Given the description of an element on the screen output the (x, y) to click on. 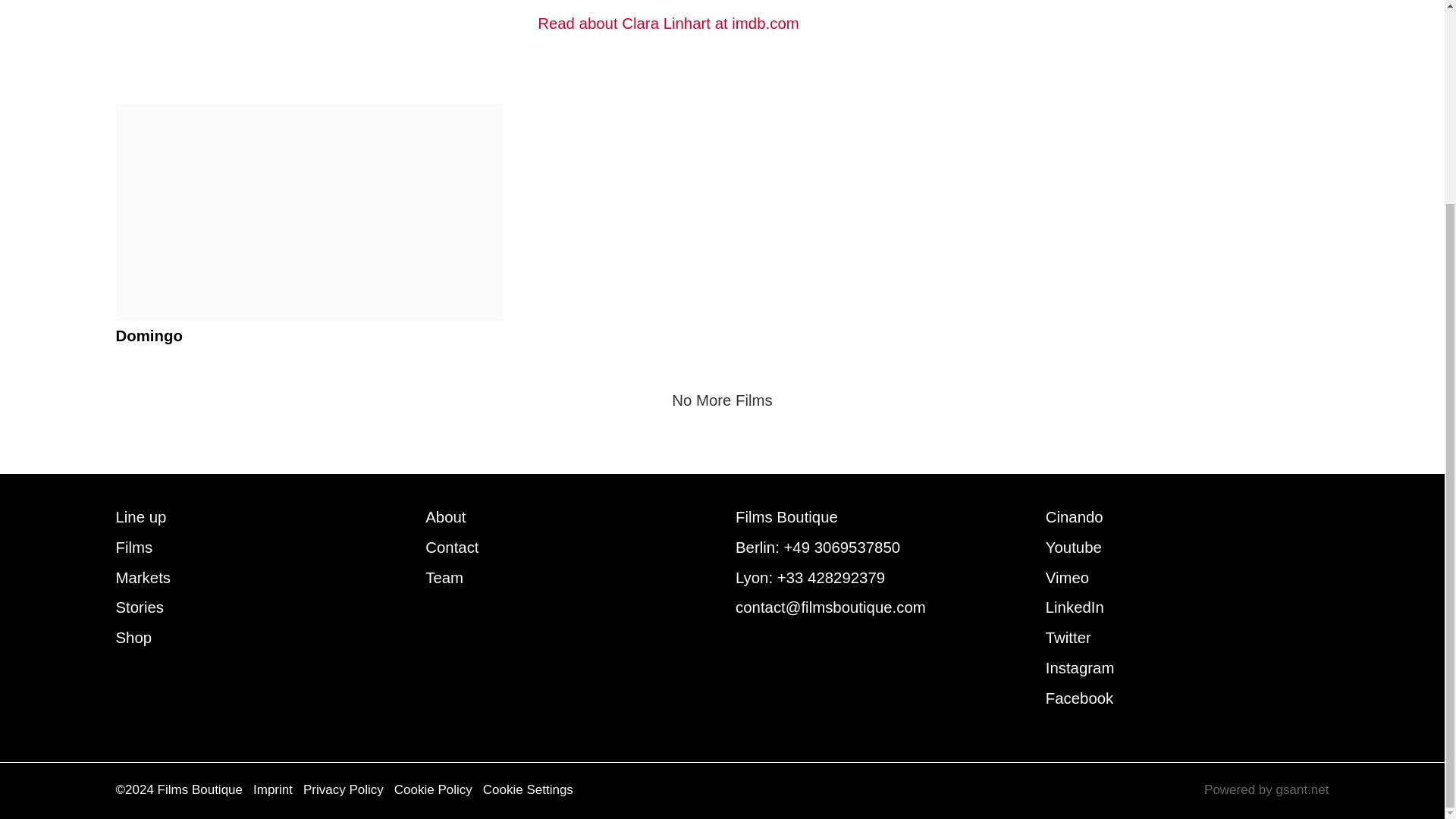
About (445, 516)
LinkedIn (1074, 606)
Films (133, 547)
Twitter (1067, 637)
Facebook (1079, 698)
Team (444, 577)
Markets (142, 577)
Vimeo (1067, 577)
Line up (140, 516)
Read about Clara Linhart at imdb.com (932, 24)
Contact (452, 547)
Shop (133, 637)
Cinando (1074, 516)
Youtube (1073, 547)
Stories (139, 606)
